Given the description of an element on the screen output the (x, y) to click on. 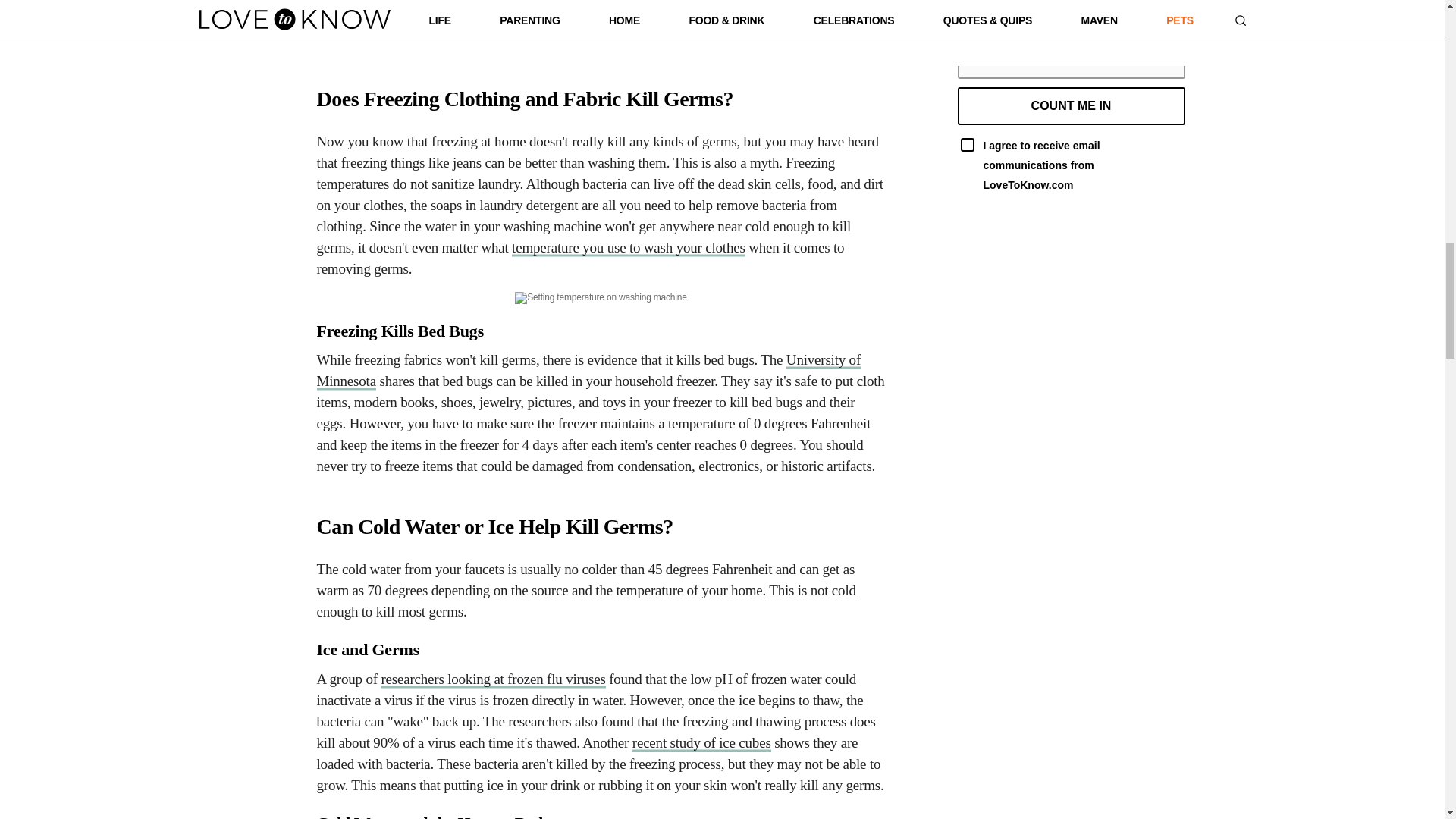
on (966, 144)
